Given the description of an element on the screen output the (x, y) to click on. 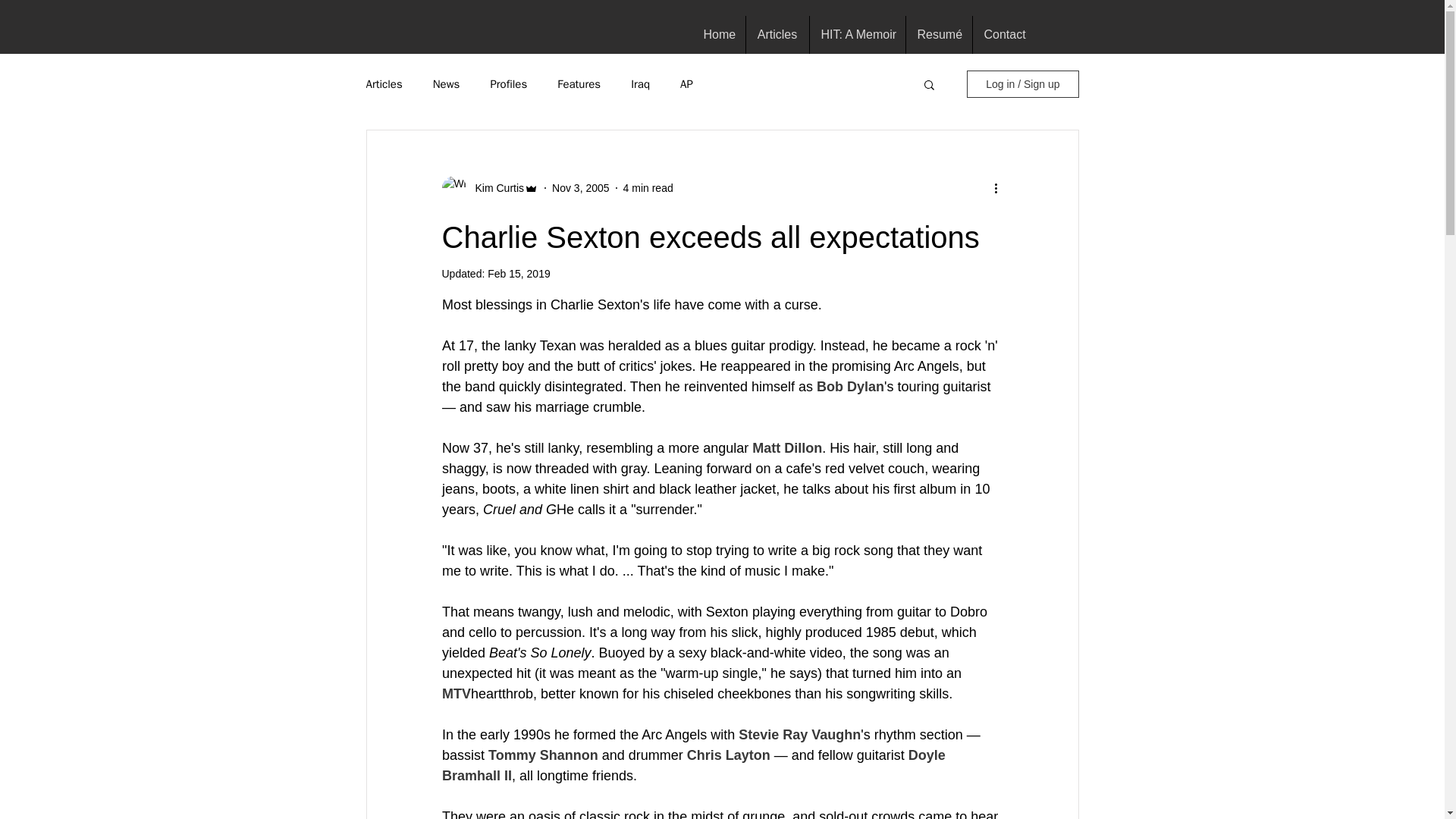
Bob Dylan (849, 386)
Nov 3, 2005 (580, 187)
Features (578, 83)
Chris Layton (727, 754)
Feb 15, 2019 (518, 273)
Kim Curtis (494, 188)
AP (686, 83)
Iraq (639, 83)
Tommy Shannon (542, 754)
MTV (455, 693)
4 min read (647, 187)
Articles (383, 83)
Doyle Bramhall II (695, 764)
Matt Dillon (787, 447)
News (446, 83)
